Given the description of an element on the screen output the (x, y) to click on. 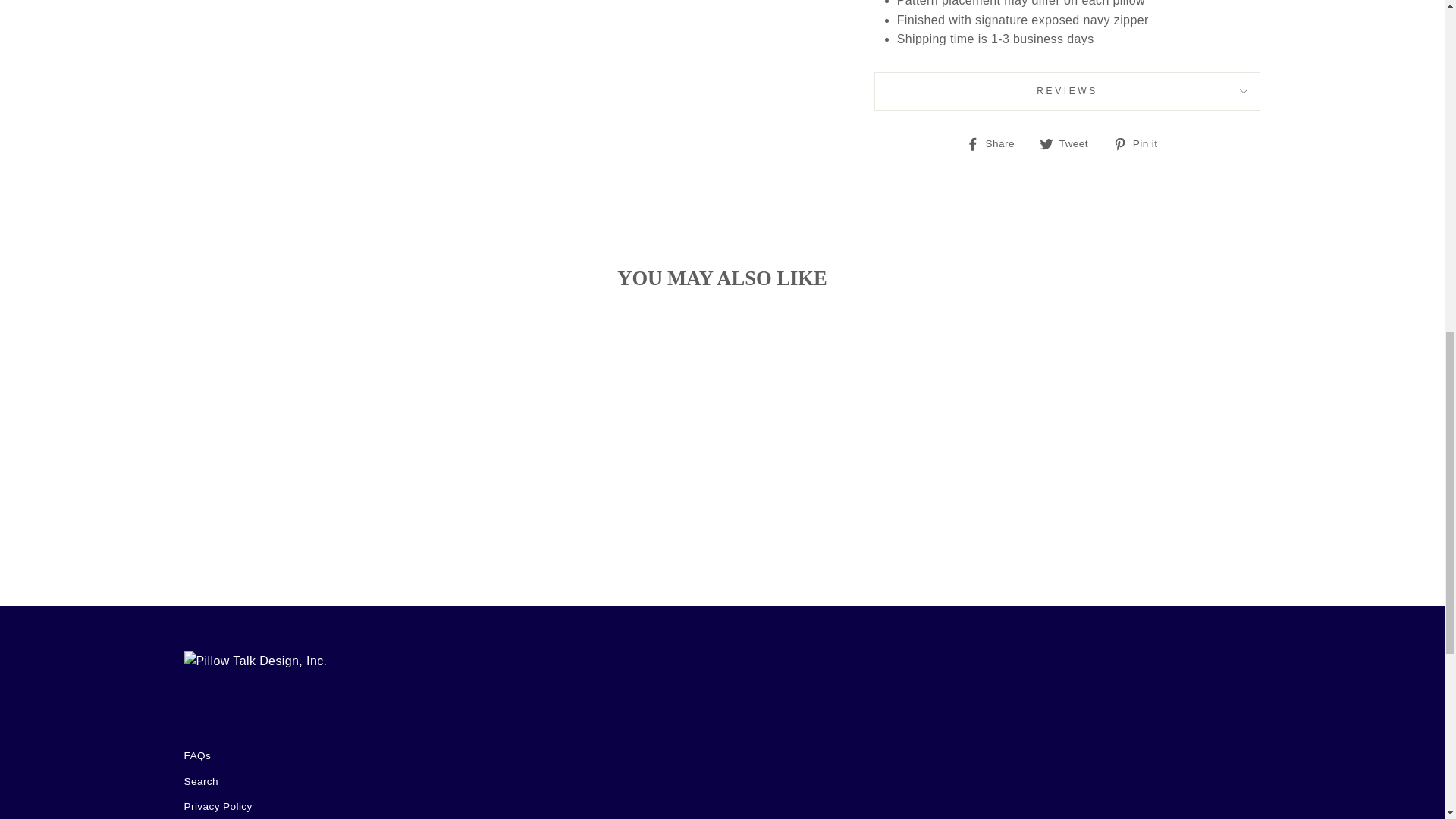
Share on Facebook (996, 143)
Pin on Pinterest (1141, 143)
Tweet on Twitter (1069, 143)
